Given the description of an element on the screen output the (x, y) to click on. 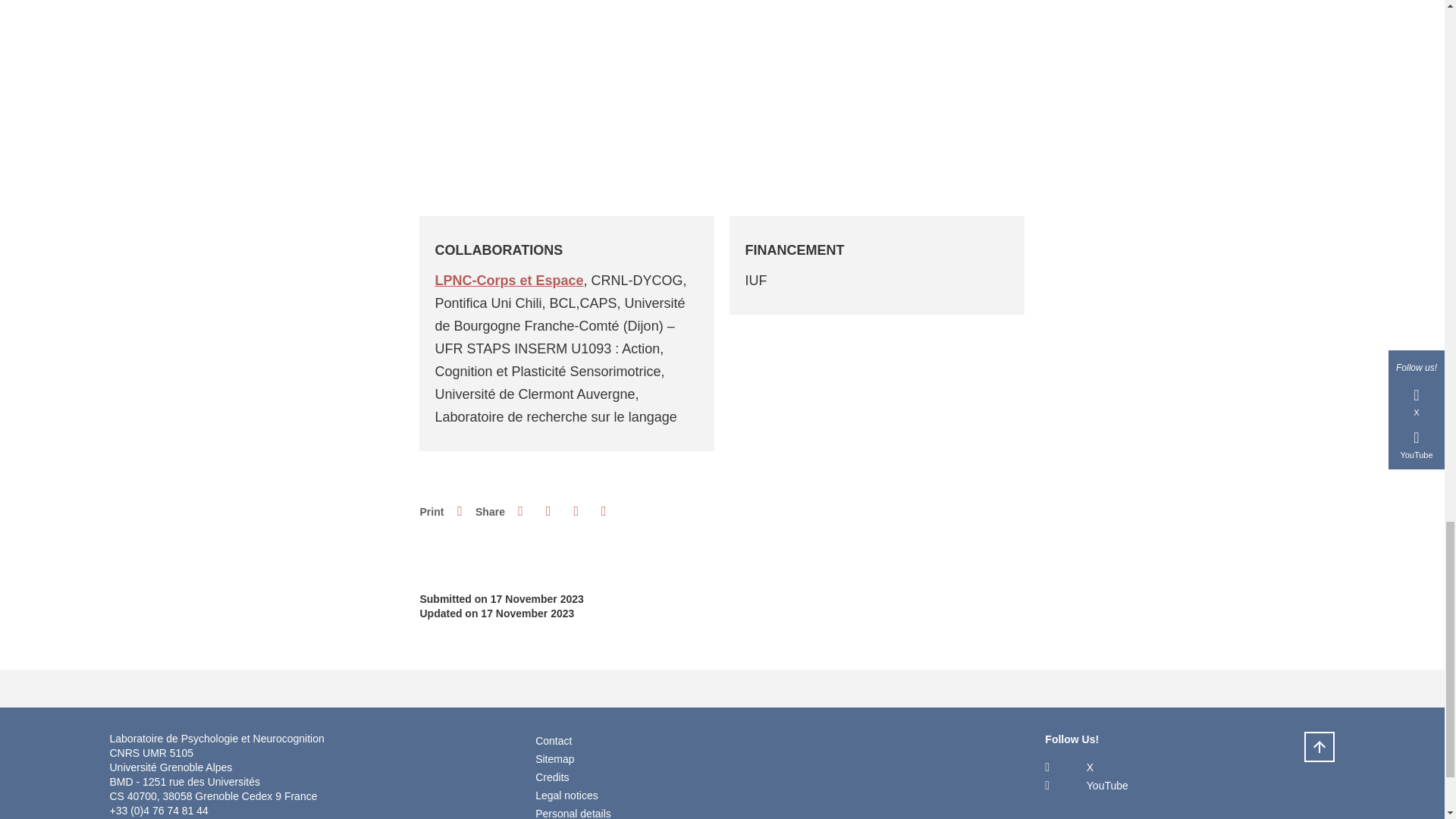
Print (458, 511)
Share url (603, 510)
Back to top (1319, 747)
Share on X (547, 510)
YouTube (1085, 784)
Share on Facebook (520, 510)
Share on LinkedIn (576, 510)
X (1069, 766)
